Given the description of an element on the screen output the (x, y) to click on. 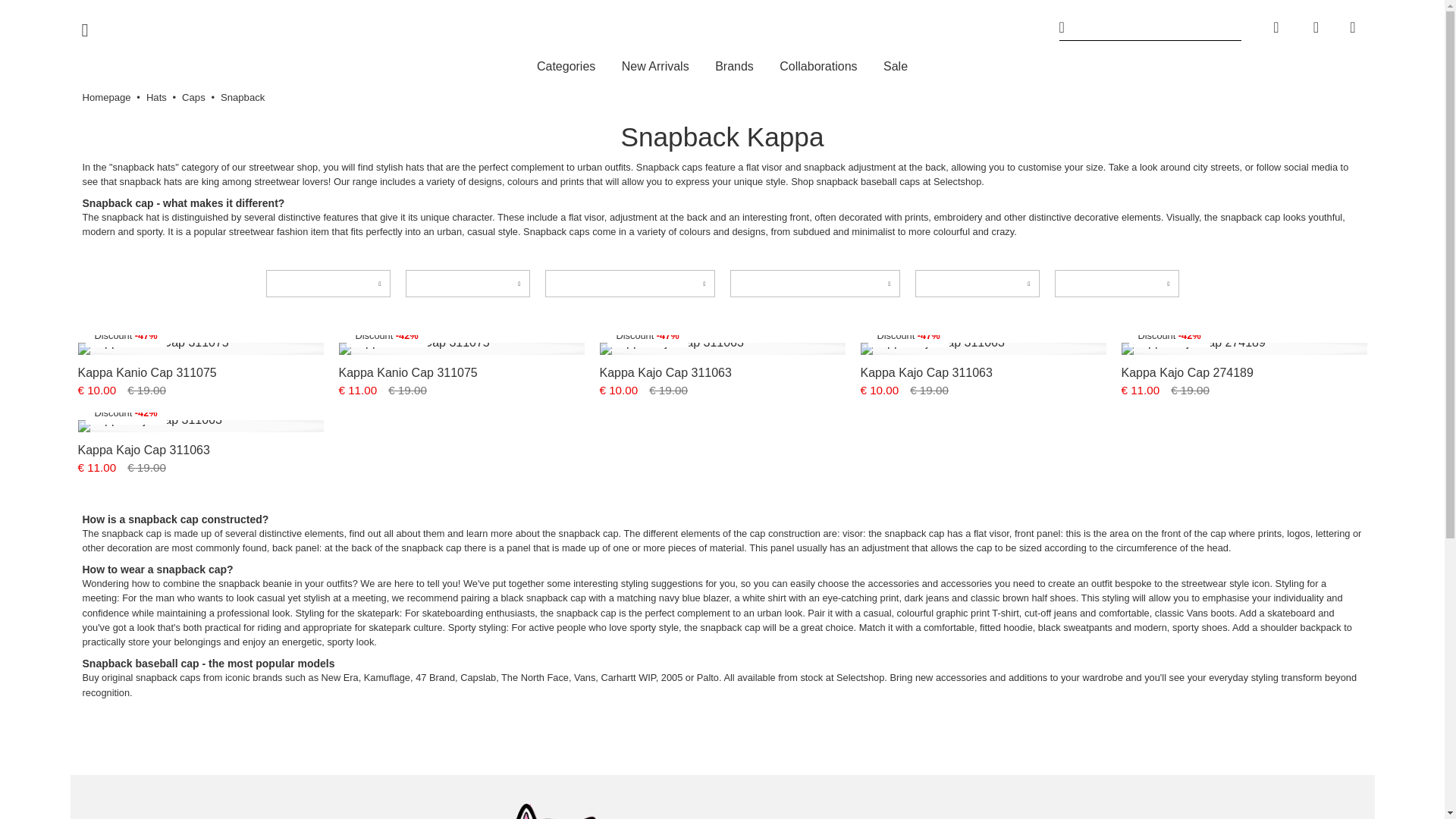
Sale (895, 66)
Collaborations (817, 66)
Categories (566, 66)
New Arrivals (654, 66)
Brands (734, 66)
